Given the description of an element on the screen output the (x, y) to click on. 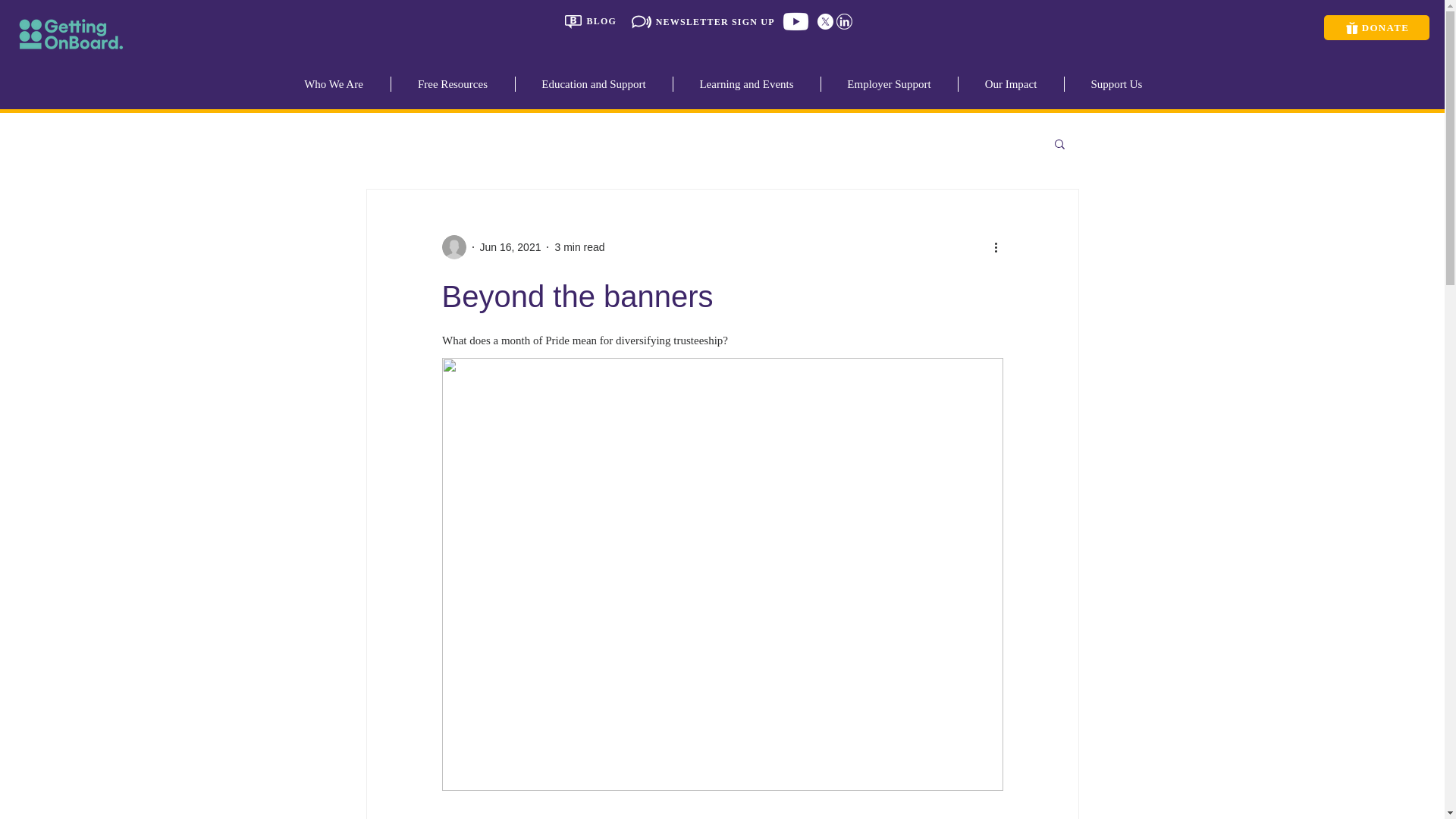
Jun 16, 2021 (509, 246)
3 min read (579, 246)
NEWSLETTER SIGN UP (703, 21)
DONATE (1376, 27)
BLOG (591, 21)
